Given the description of an element on the screen output the (x, y) to click on. 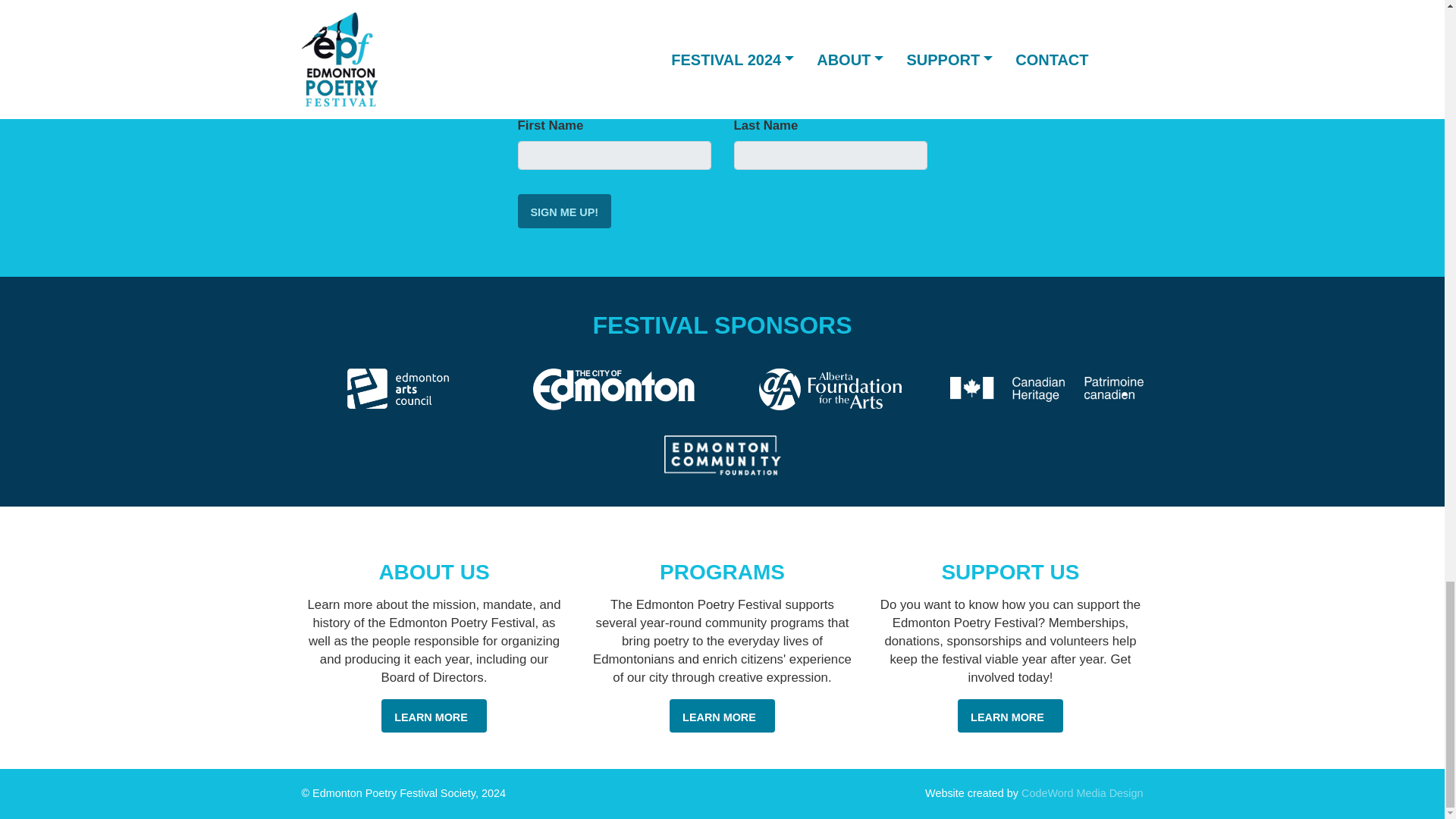
Sign me up! (563, 210)
LEARN MORE   (721, 715)
LEARN MORE   (433, 715)
Sign me up! (563, 210)
